Given the description of an element on the screen output the (x, y) to click on. 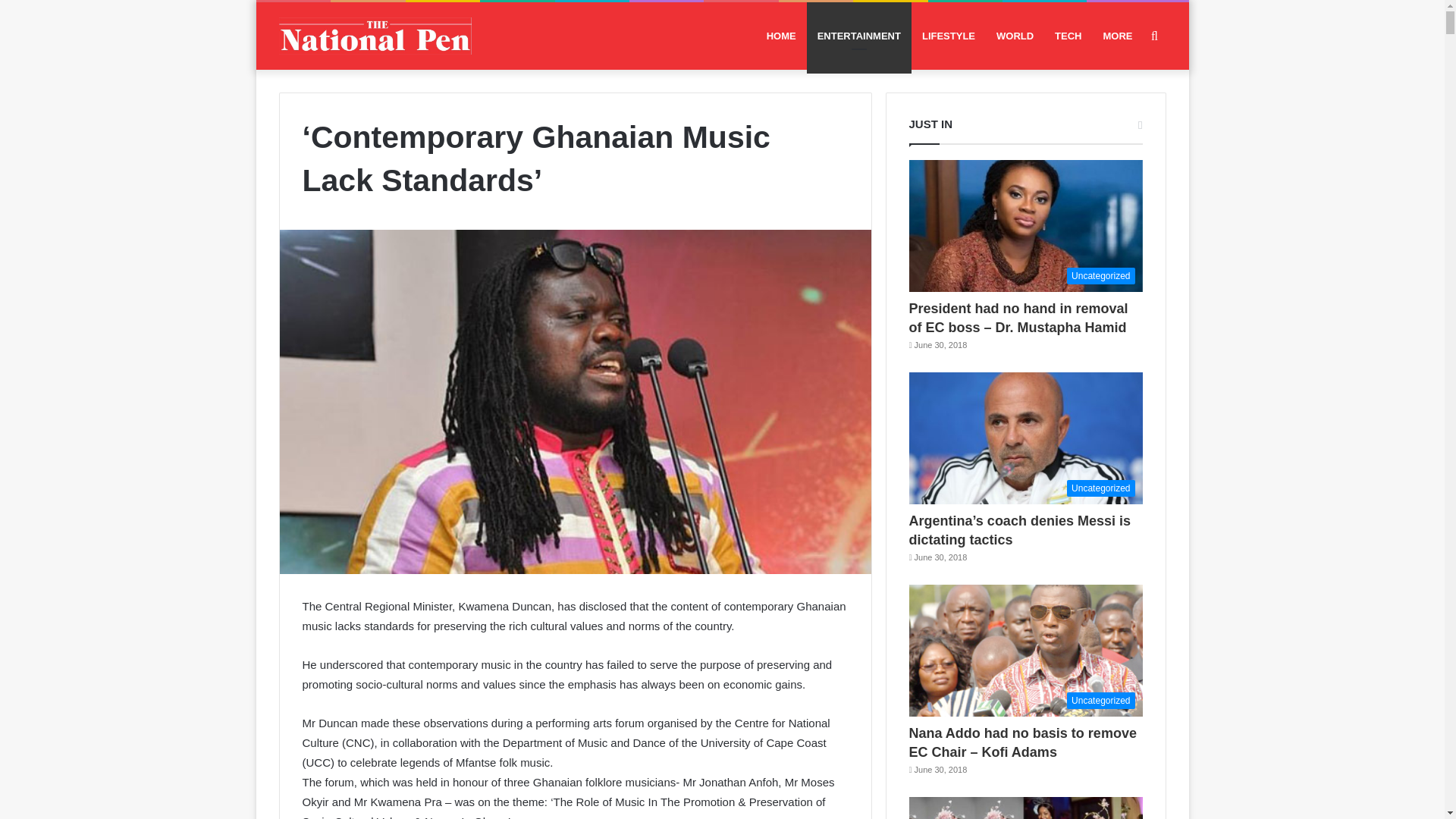
LIFESTYLE (948, 35)
ENTERTAINMENT (858, 35)
The National Pen (375, 35)
